Given the description of an element on the screen output the (x, y) to click on. 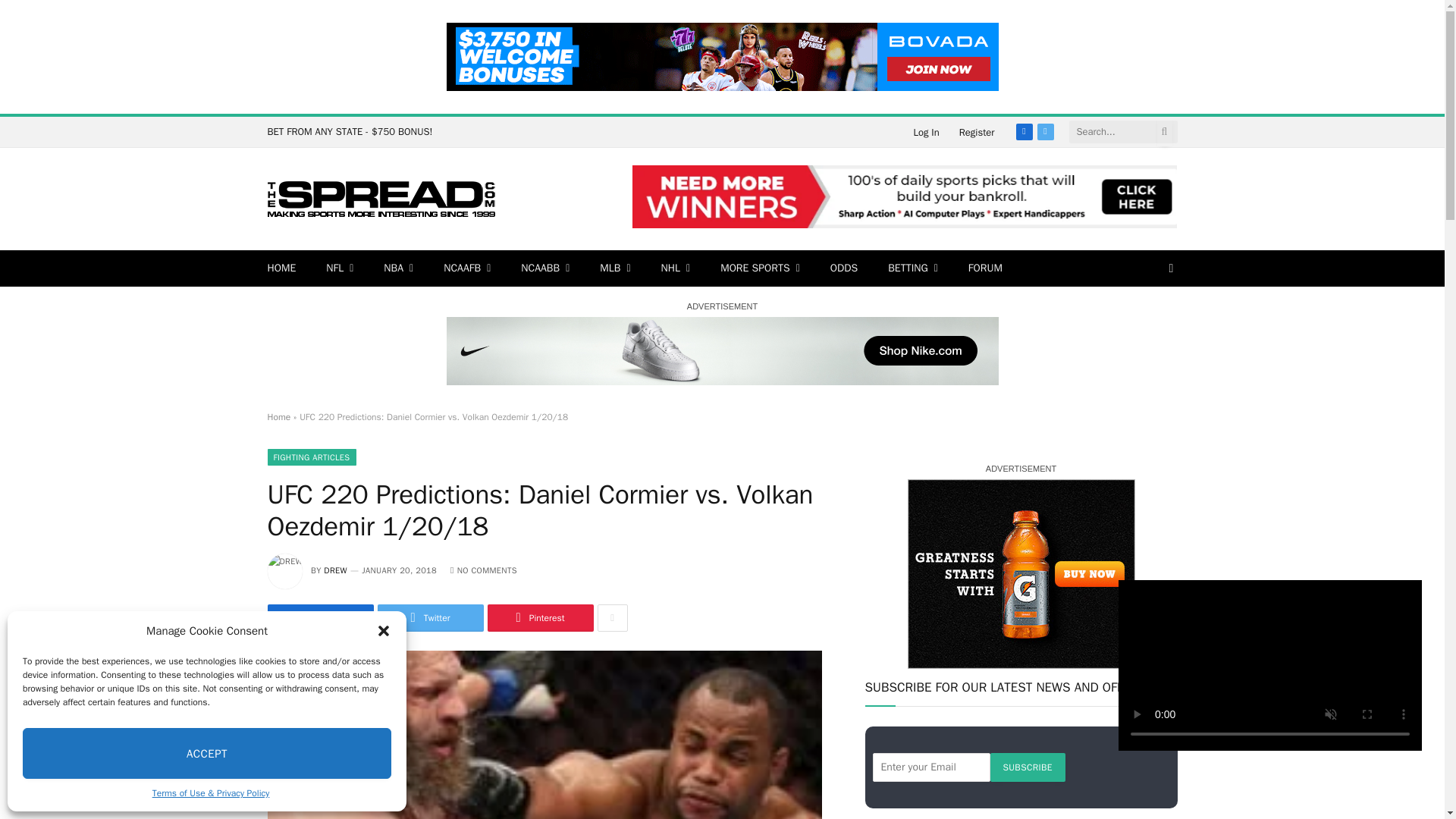
NBA (398, 268)
ACCEPT (207, 753)
Log In (925, 132)
Posts by Drew (335, 570)
Show More Social Sharing (611, 617)
Share on Facebook (319, 617)
NCAAFB (466, 268)
Facebook (1024, 131)
TheSpread.com (380, 198)
Share on Pinterest (539, 617)
Register (976, 132)
HOME (281, 268)
Switch to Dark Design - easier on eyes. (1168, 268)
NFL (339, 268)
